Given the description of an element on the screen output the (x, y) to click on. 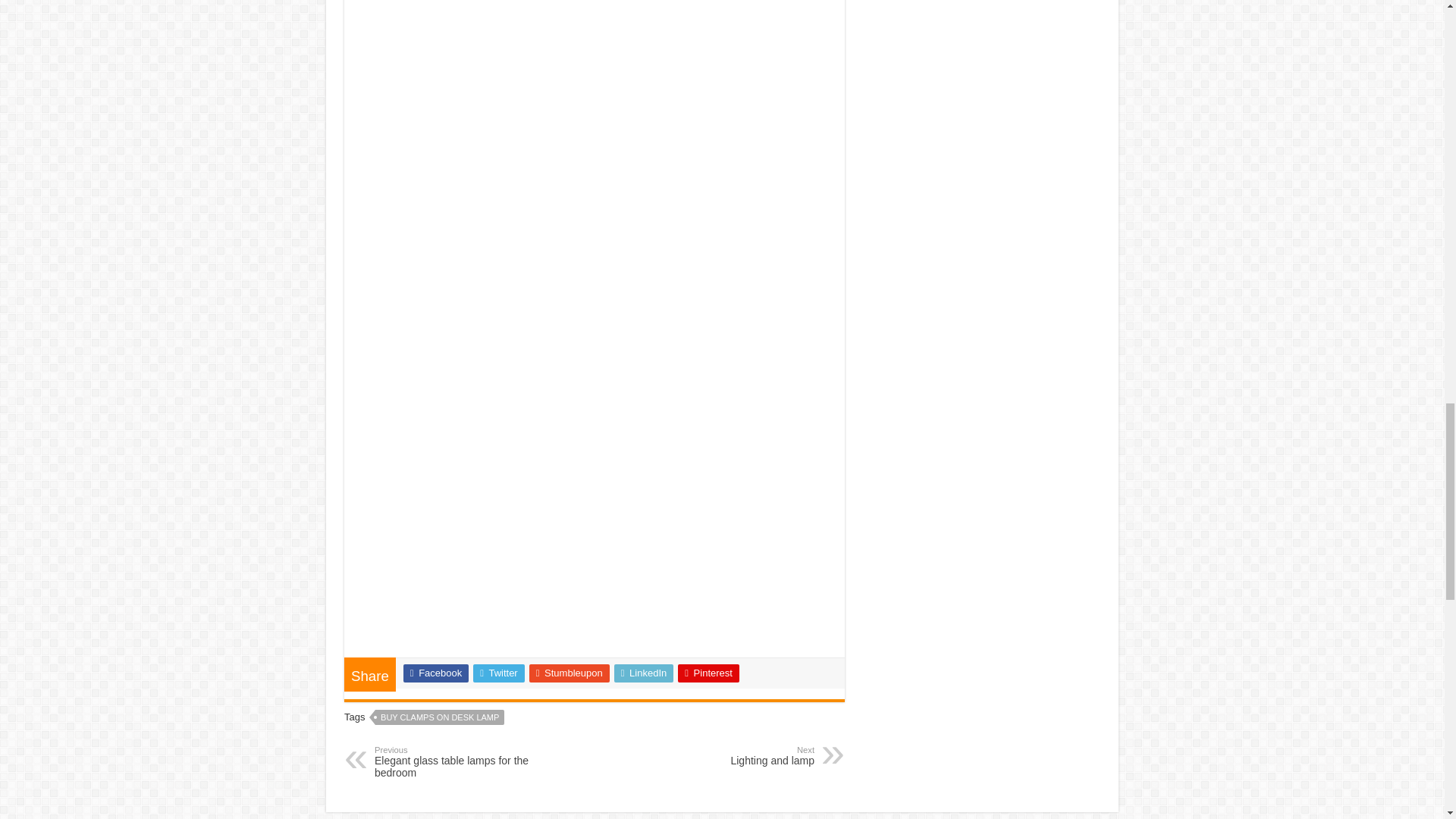
Stumbleupon (451, 761)
Twitter (569, 673)
LinkedIn (736, 755)
Facebook (498, 673)
Pinterest (644, 673)
BUY CLAMPS ON DESK LAMP (435, 673)
